Given the description of an element on the screen output the (x, y) to click on. 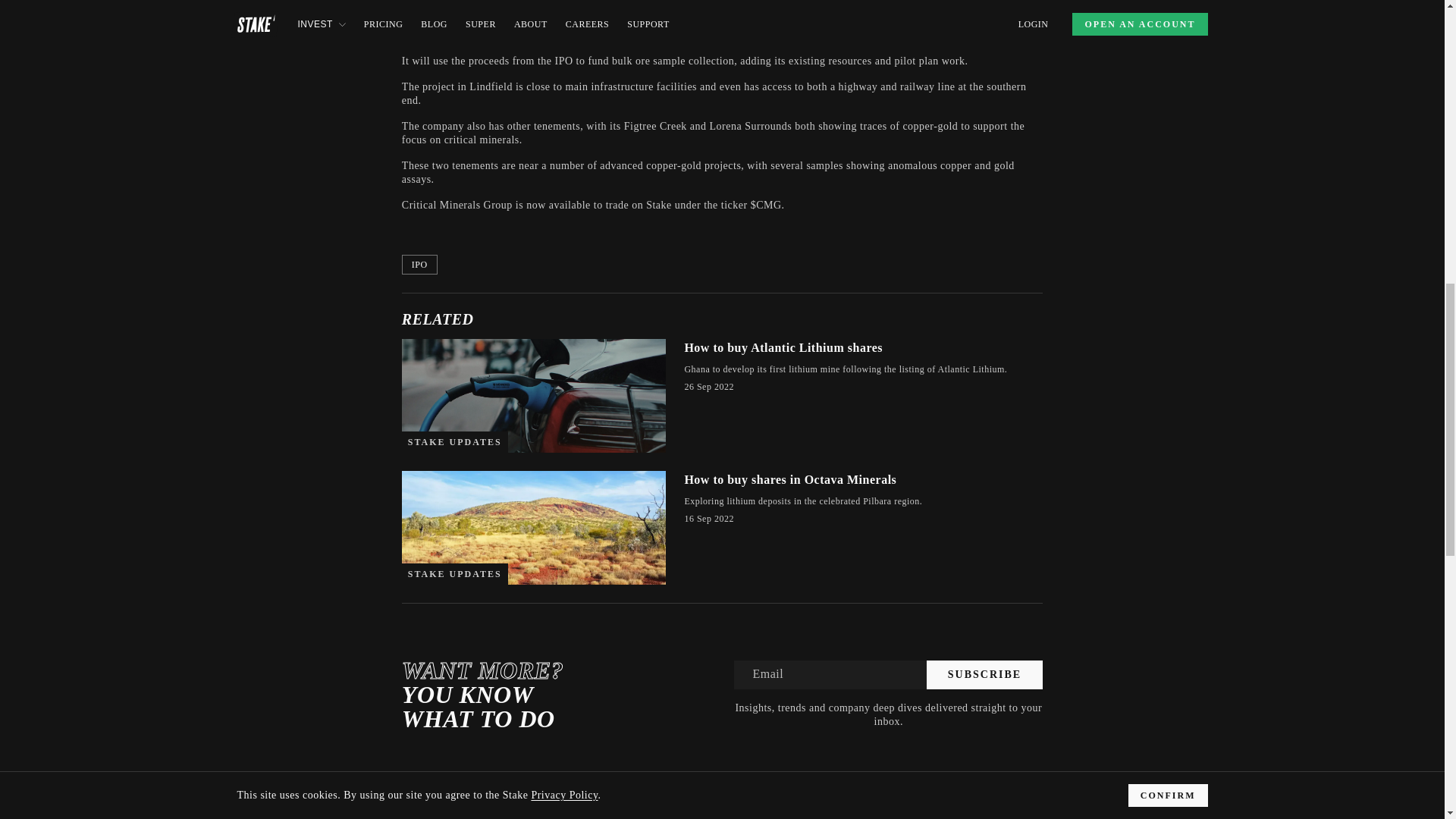
SUBSCRIBE (984, 674)
IPO (419, 264)
